Given the description of an element on the screen output the (x, y) to click on. 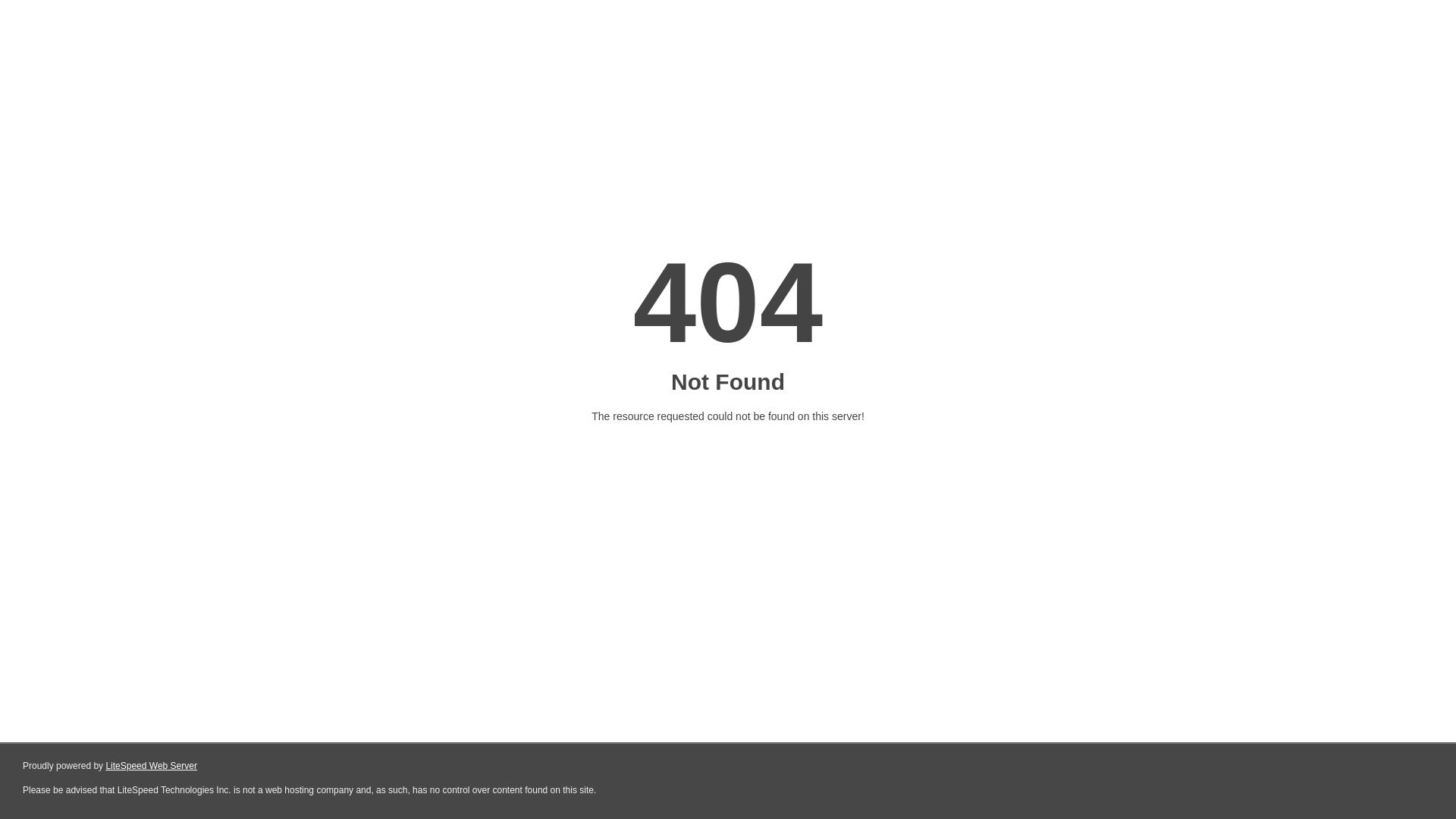
LiteSpeed Web Server Element type: text (151, 765)
